Given the description of an element on the screen output the (x, y) to click on. 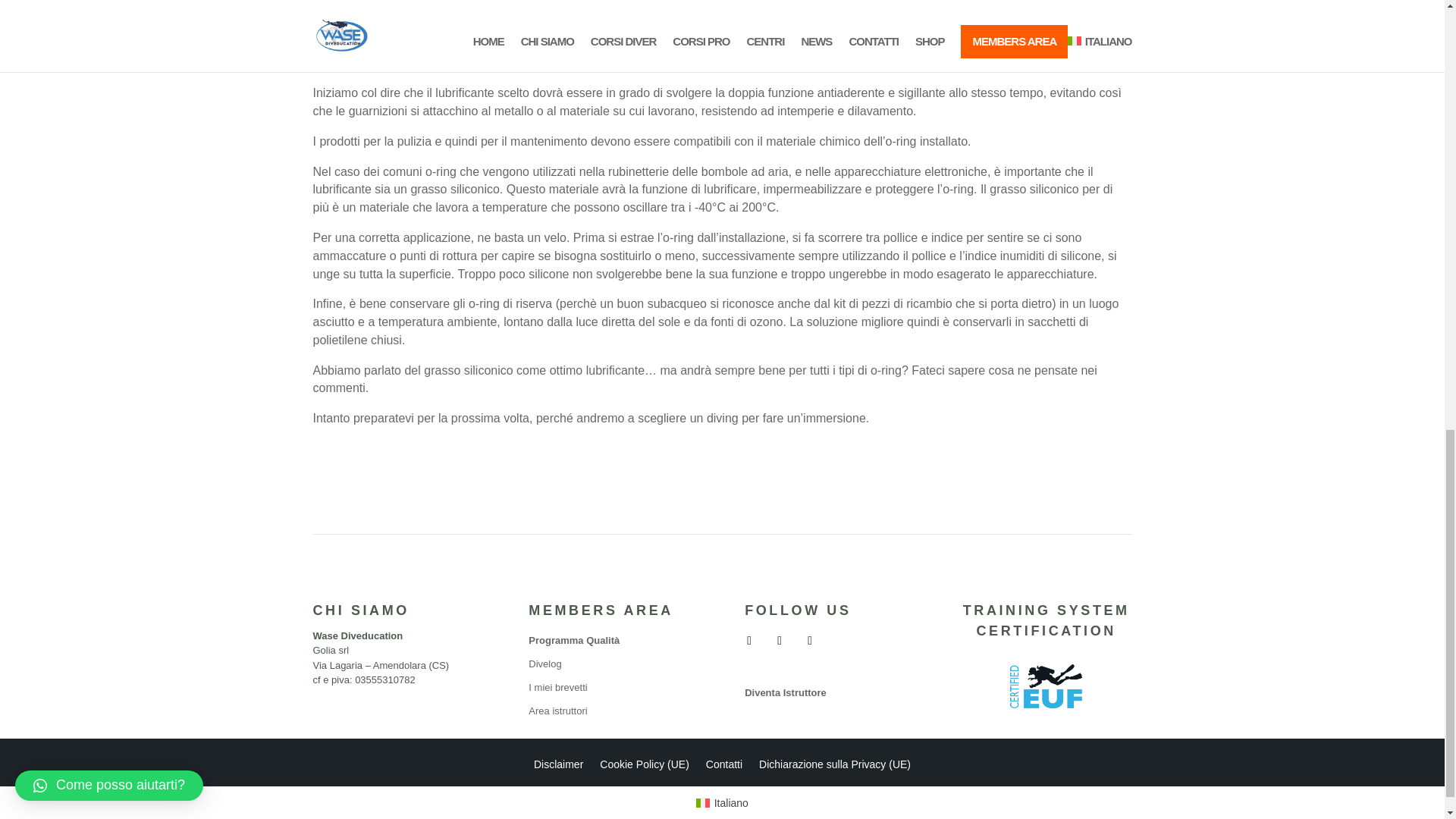
Divelog (544, 663)
logo (1045, 686)
Area istruttori (557, 710)
Disclaimer (558, 767)
Diventa Istruttore (785, 692)
Follow on Facebook (748, 640)
Follow on Youtube (809, 640)
Follow on Instagram (779, 640)
Contatti (724, 767)
I miei brevetti (557, 686)
